Given the description of an element on the screen output the (x, y) to click on. 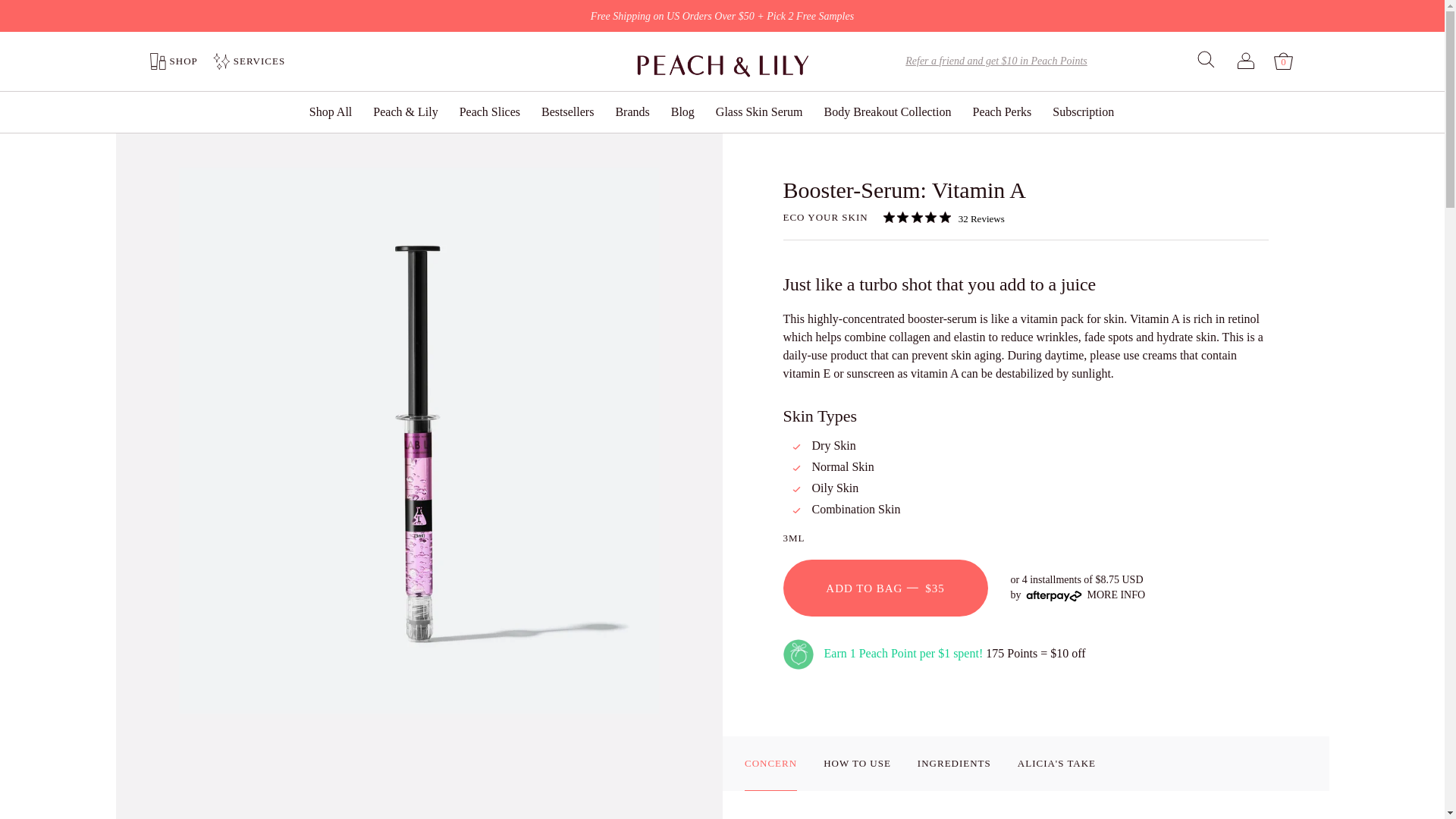
INGREDIENTS (954, 763)
Shop All (330, 111)
CONCERN (770, 763)
ALICIA'S TAKE (1056, 763)
Blog (682, 111)
MORE INFO (1116, 594)
Brands (943, 216)
Peach Slices (631, 111)
Peach Perks (489, 111)
0 (1001, 111)
ECO YOUR SKIN (1283, 60)
SHOP (825, 217)
HOW TO USE (170, 61)
Glass Skin Serum (857, 763)
